Given the description of an element on the screen output the (x, y) to click on. 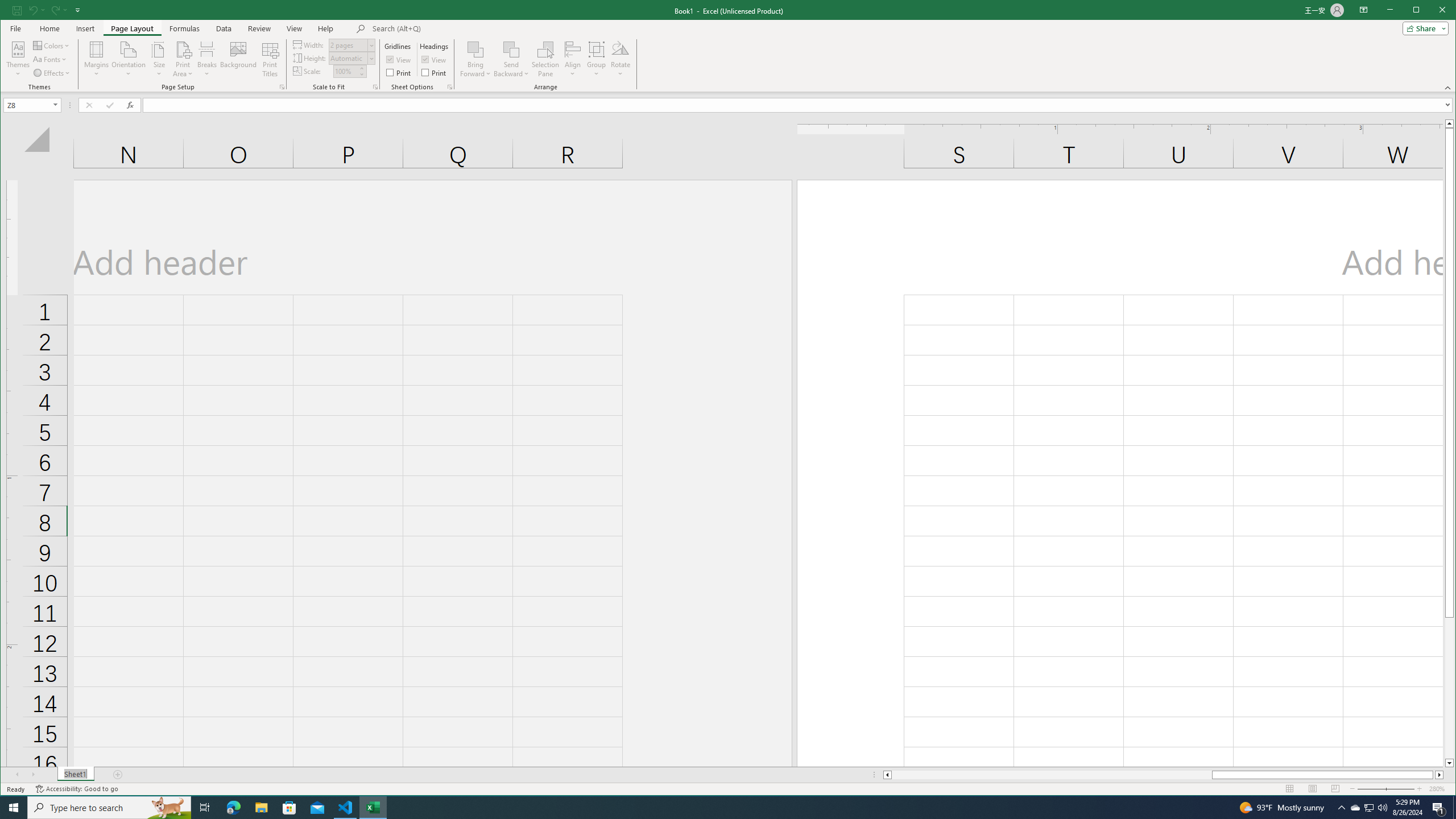
Background... (237, 59)
Running applications (717, 807)
Margins (96, 59)
Height (352, 57)
Fonts (49, 59)
Effects (52, 72)
Height (347, 58)
